Given the description of an element on the screen output the (x, y) to click on. 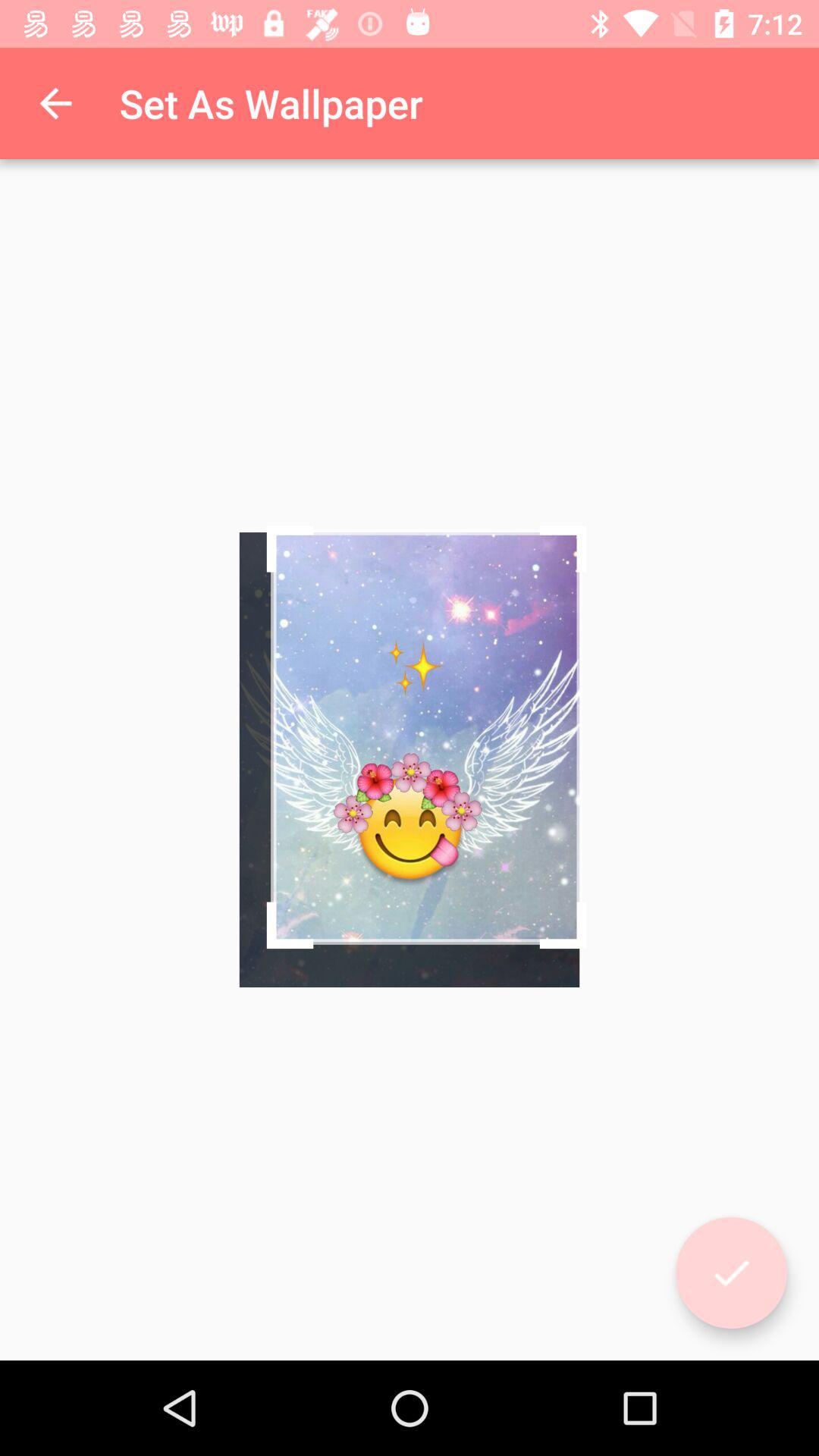
open the item next to the set as wallpaper icon (55, 103)
